Given the description of an element on the screen output the (x, y) to click on. 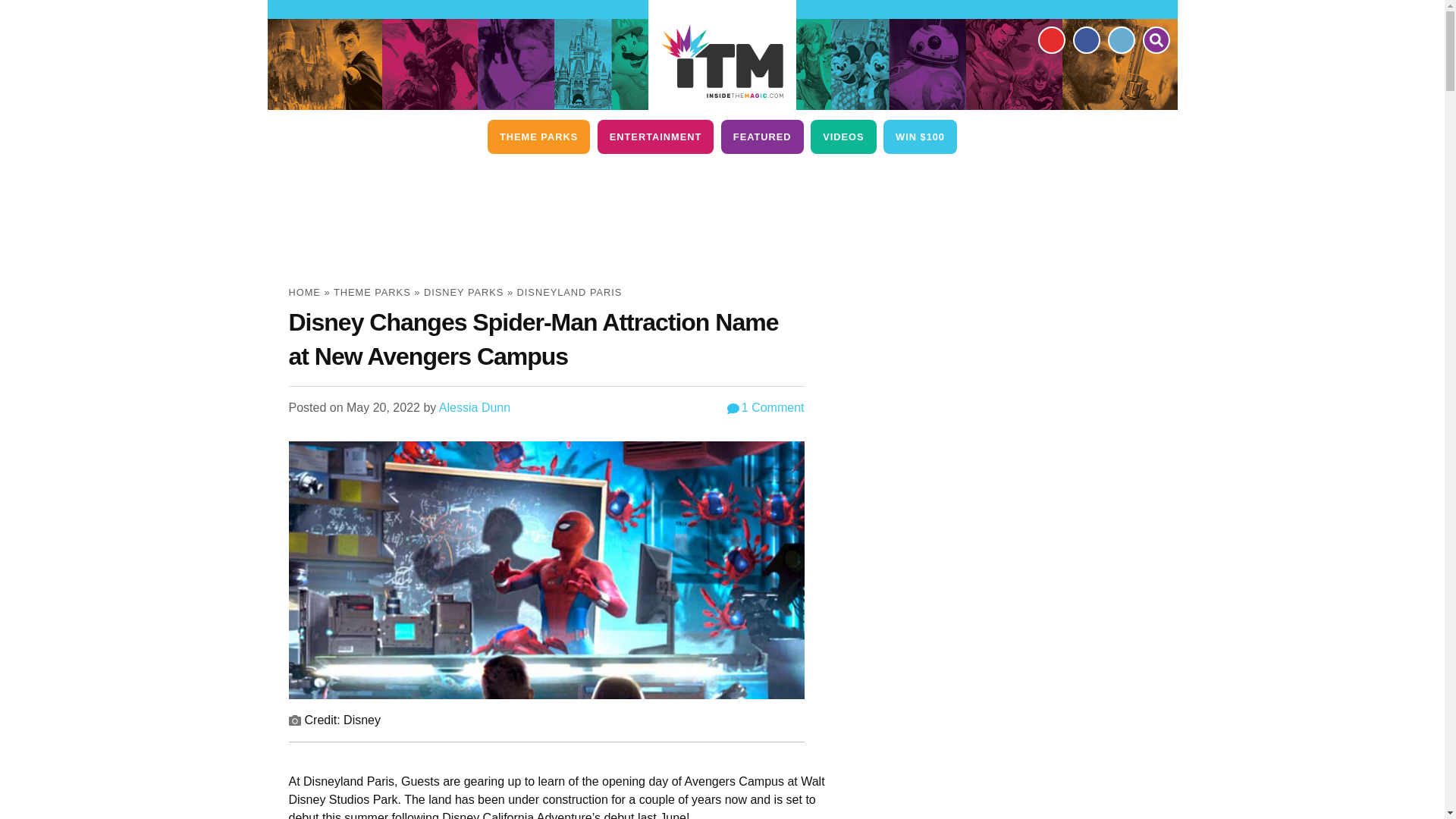
Search (1155, 40)
ENTERTAINMENT (655, 136)
Twitter (1120, 40)
FEATURED (761, 136)
THEME PARKS (538, 136)
YouTube (1050, 40)
Facebook (1085, 40)
